Given the description of an element on the screen output the (x, y) to click on. 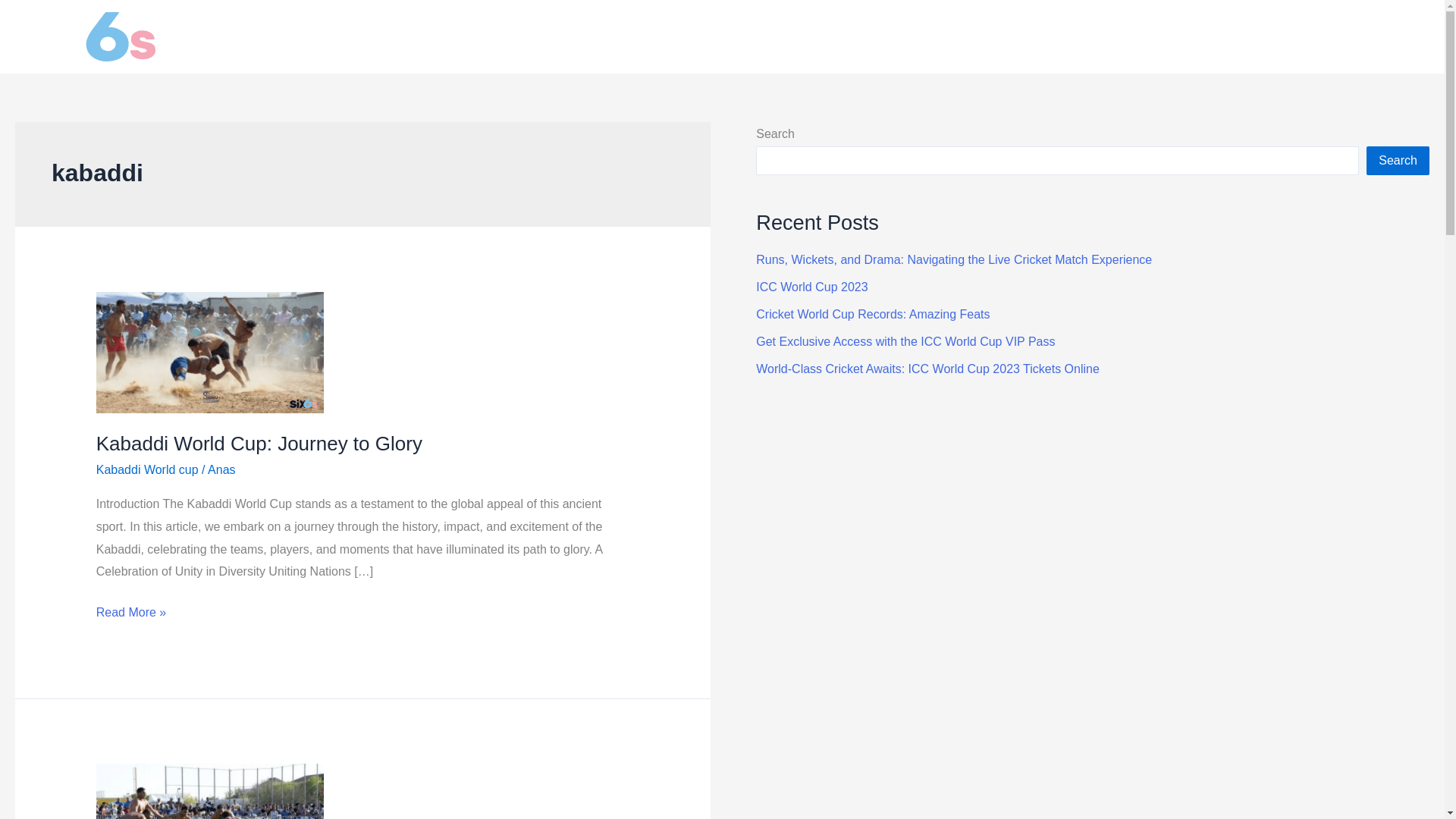
View all posts by Anas (221, 469)
Home (1246, 35)
IPL 2023 (1310, 35)
Blog Posts (1388, 35)
Kabaddi World cup (147, 469)
Kabaddi World Cup: Journey to Glory (259, 443)
Anas (221, 469)
